Given the description of an element on the screen output the (x, y) to click on. 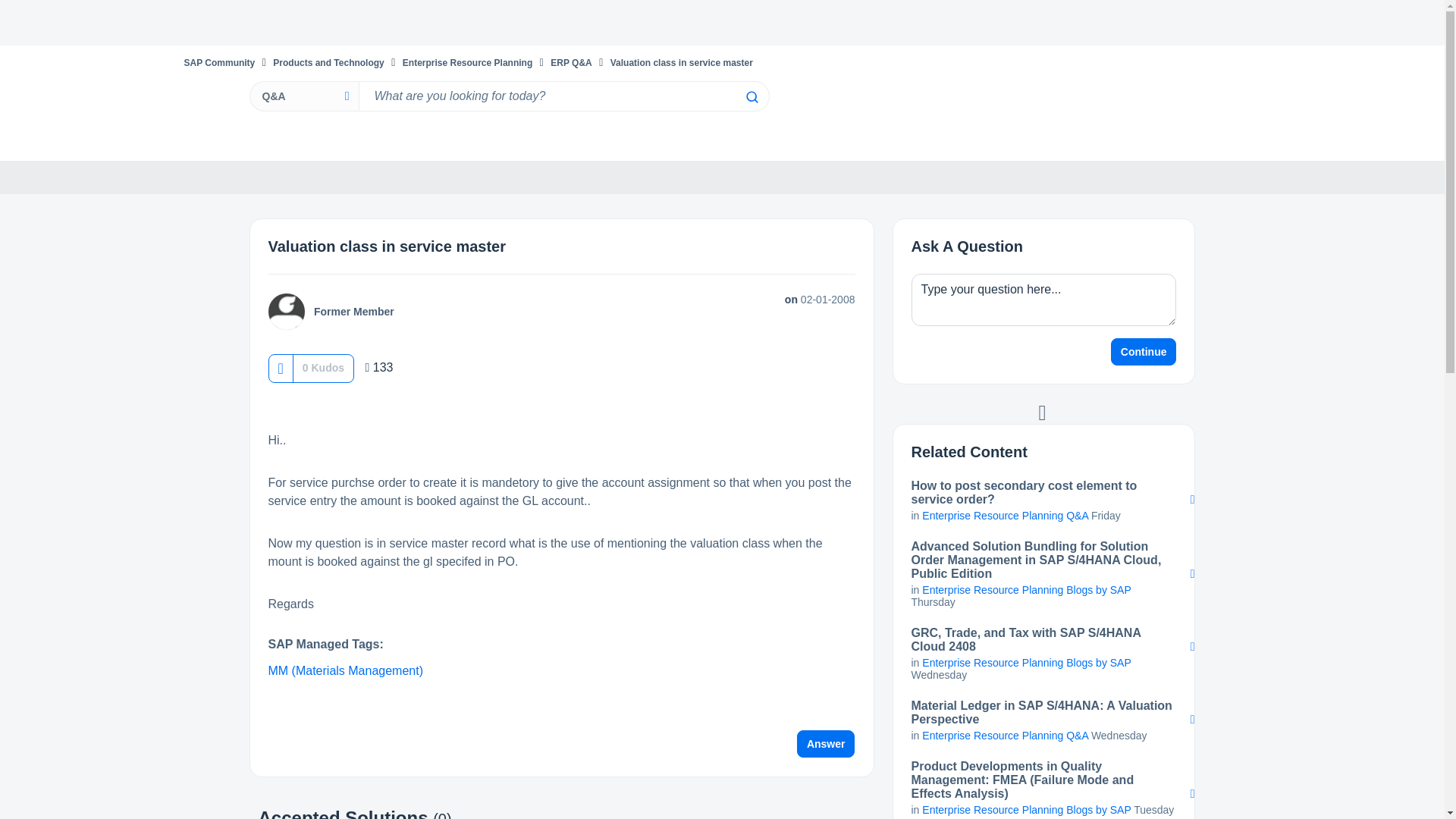
Search Granularity (303, 96)
SAP Community (218, 62)
Enterprise Resource Planning (467, 62)
Answer (826, 743)
Products and Technology (328, 62)
Search (750, 96)
Continue (1143, 351)
Search (563, 96)
Continue (1143, 351)
Click here to give kudos to this post. (279, 367)
